Given the description of an element on the screen output the (x, y) to click on. 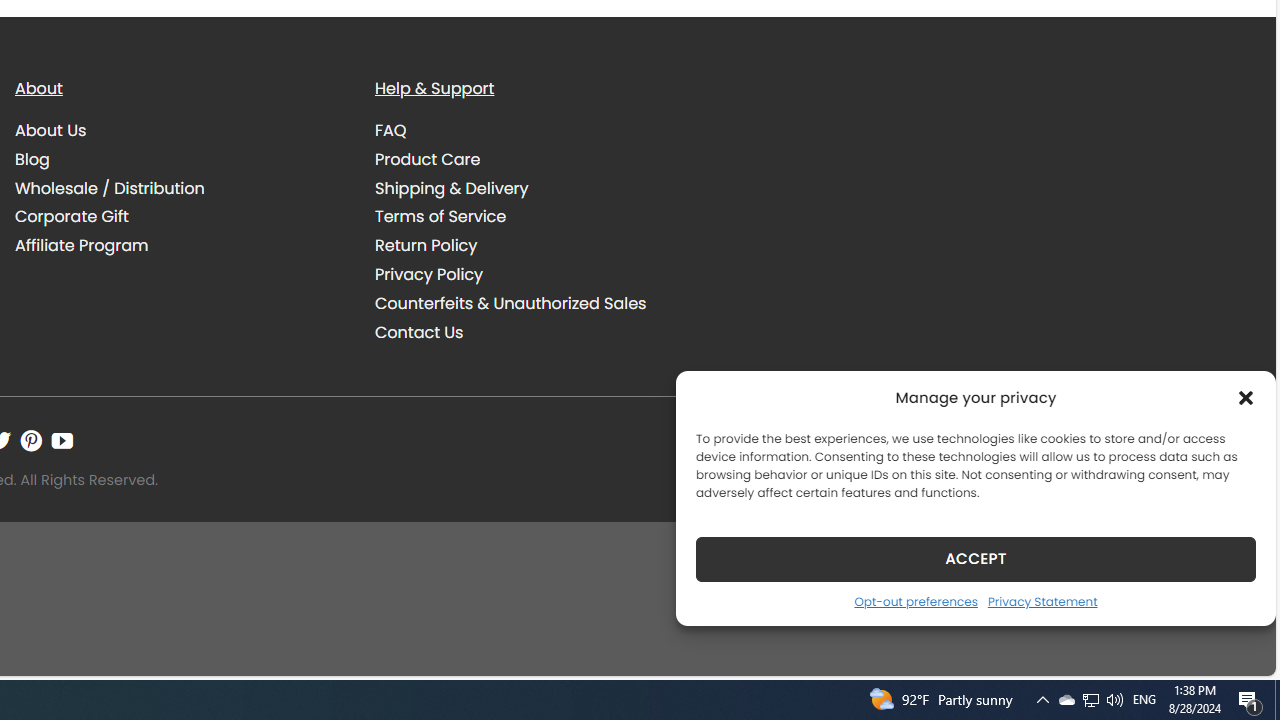
Privacy Policy (429, 273)
Return Policy (540, 246)
Corporate Gift (180, 216)
